Given the description of an element on the screen output the (x, y) to click on. 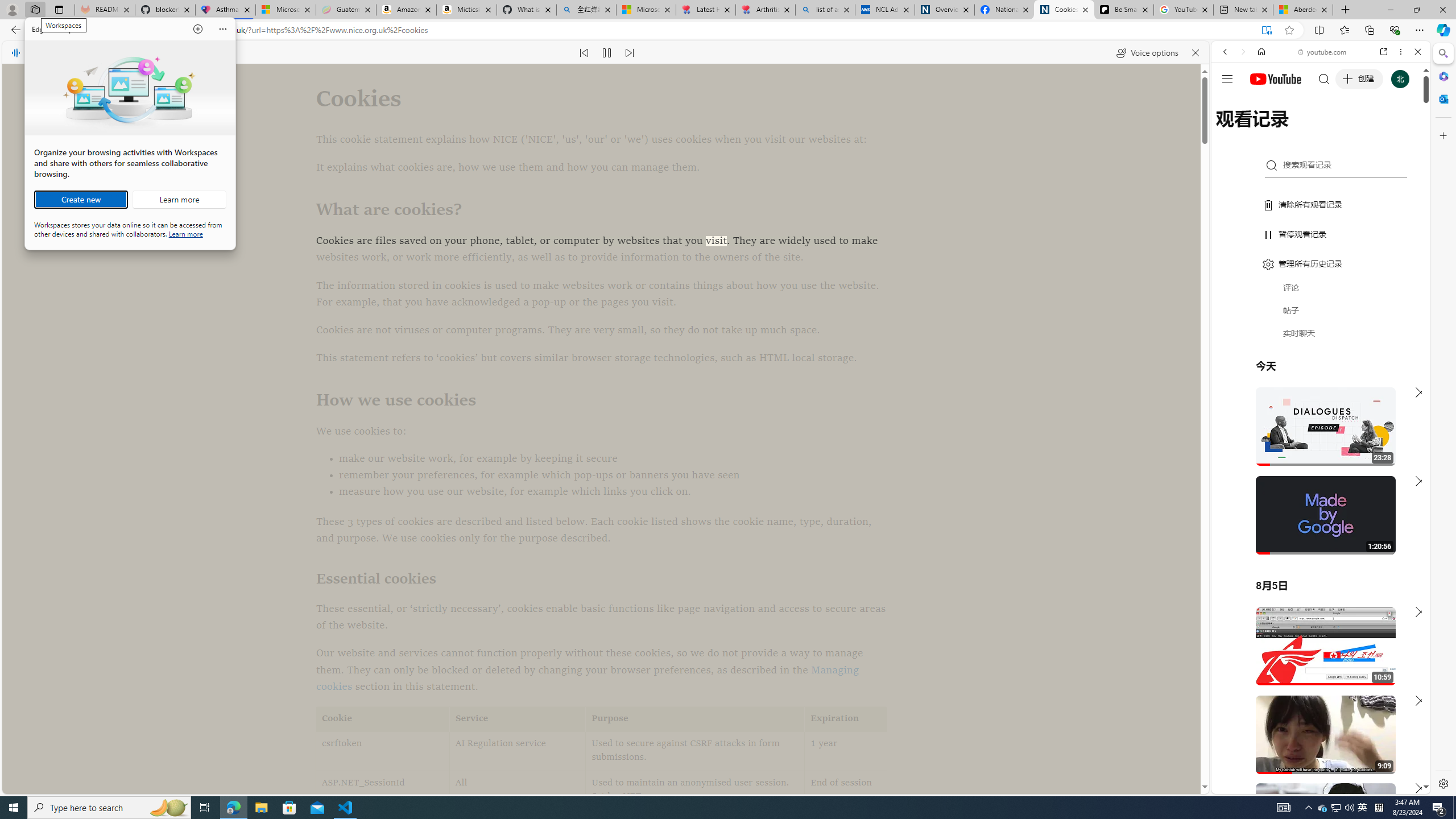
#you (1315, 659)
Running applications (700, 807)
Exit Immersive Reader (F9) (1266, 29)
Service (517, 718)
Learn more about Workspaces (178, 199)
End of session (844, 790)
Tray Input Indicator - Chinese (Simplified, China) (1378, 807)
Used to maintain an anonymised user session. Set by .NET. (695, 790)
AutomationID: 4105 (1283, 807)
NCL Adult Asthma Inhaler Choice Guideline (885, 9)
